Given the description of an element on the screen output the (x, y) to click on. 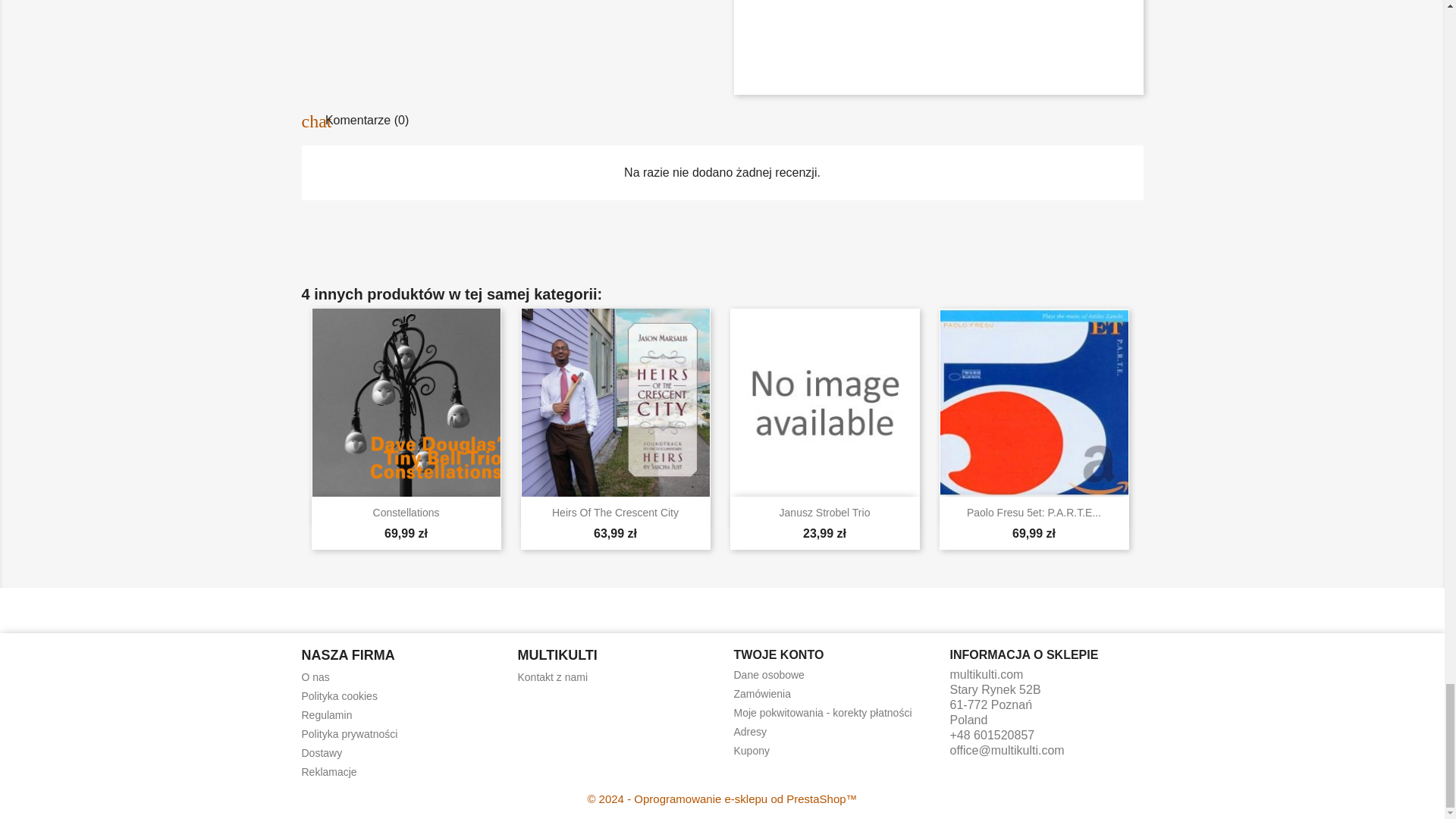
Heirs Of The Crescent City (614, 512)
O nas (315, 676)
Dowstawy (321, 752)
Polityka cookies (339, 695)
Janusz Strobel Trio (824, 512)
Regulamin sklepu (326, 715)
Dane osobowe (769, 674)
Constellations (405, 512)
Skorzystaj z formularza kontaktowego (552, 676)
